Given the description of an element on the screen output the (x, y) to click on. 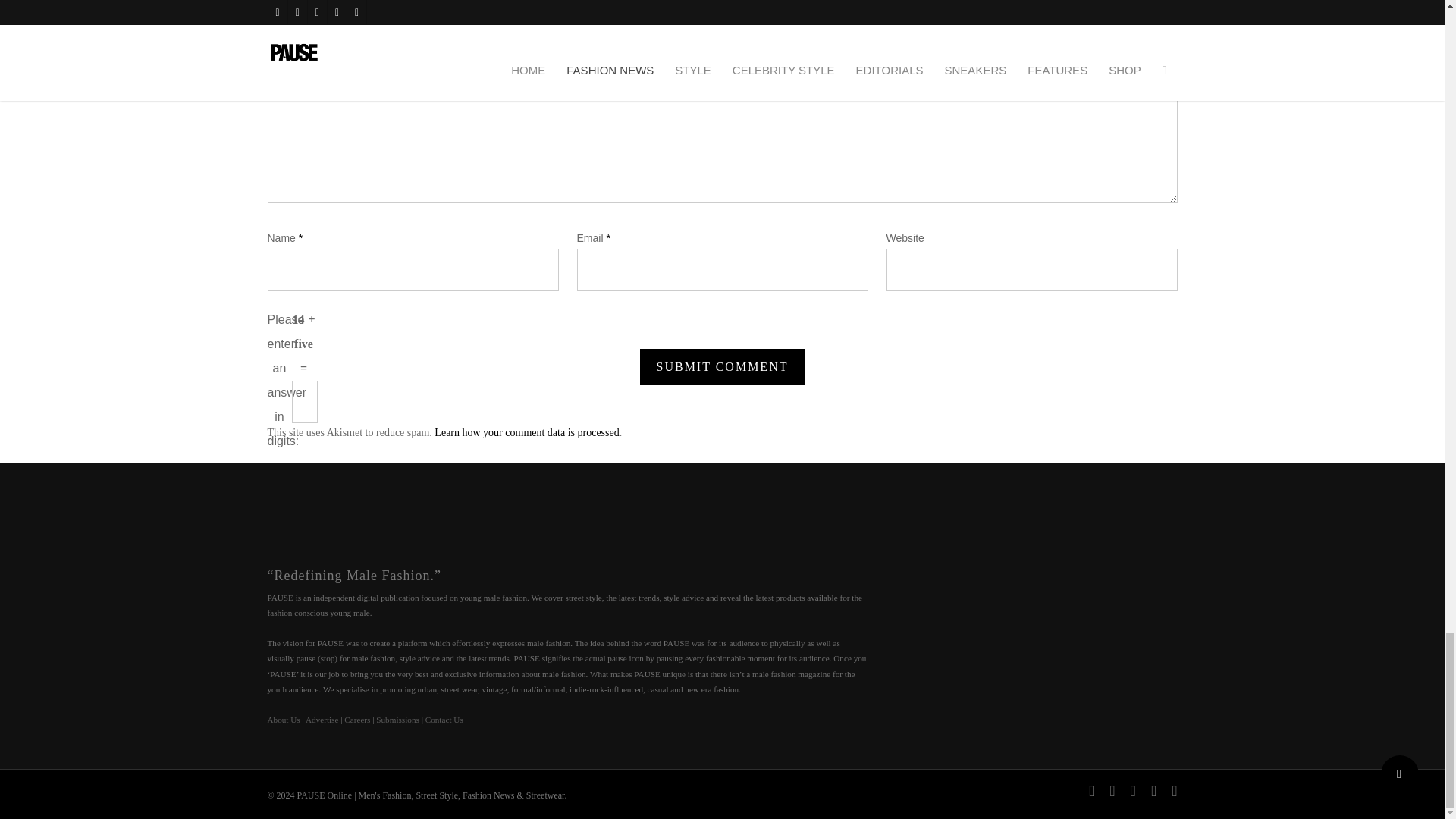
Submit Comment (722, 366)
